Given the description of an element on the screen output the (x, y) to click on. 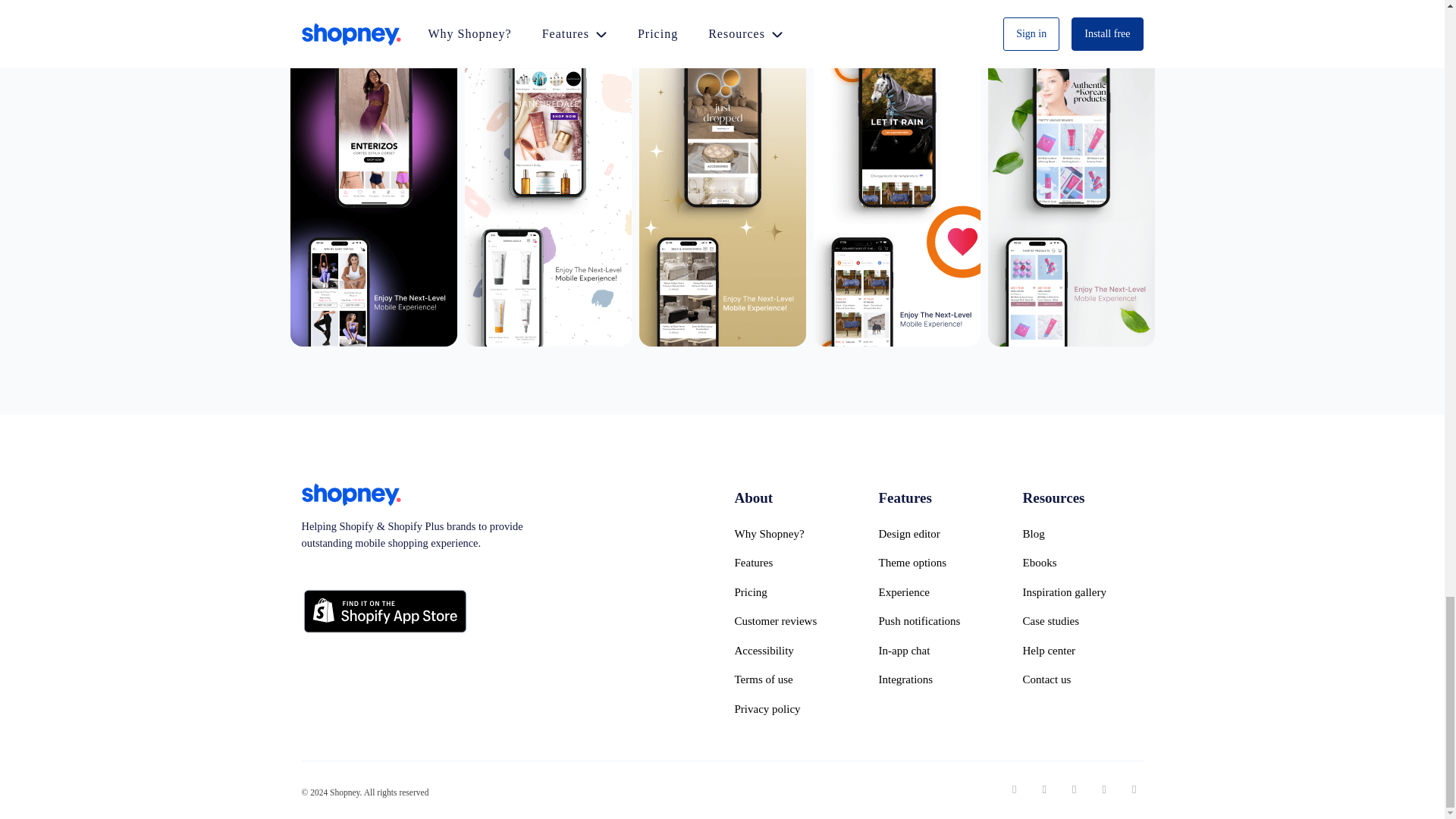
Pricing (793, 592)
Design editor (937, 533)
Push notifications (937, 621)
Customer reviews (793, 621)
Terms of use (793, 679)
Theme options (937, 562)
Accessibility (793, 650)
Features (793, 562)
Experience (937, 592)
Privacy policy (793, 708)
Why Shopney? (793, 533)
